Given the description of an element on the screen output the (x, y) to click on. 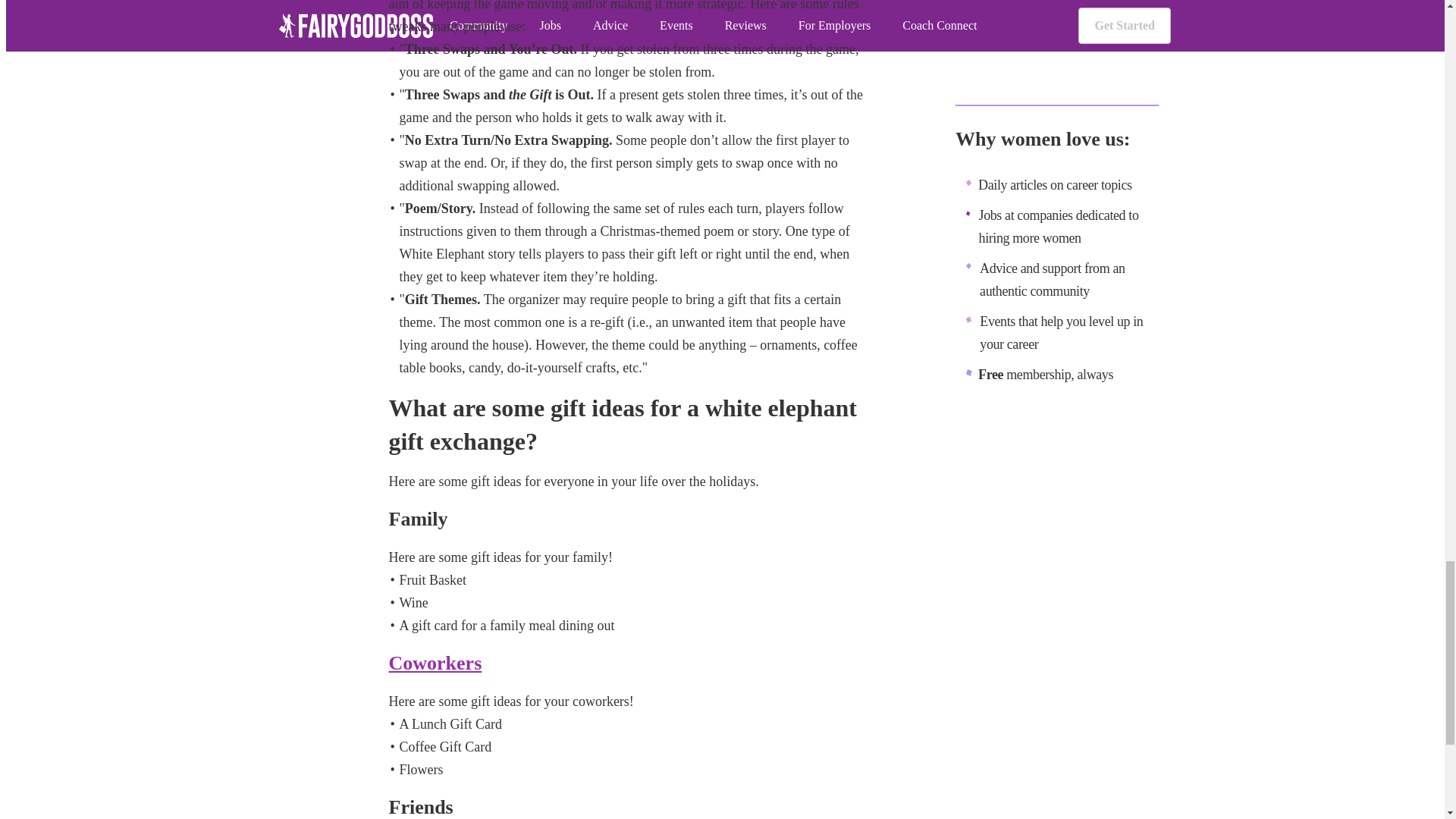
Coworkers (434, 662)
